Given the description of an element on the screen output the (x, y) to click on. 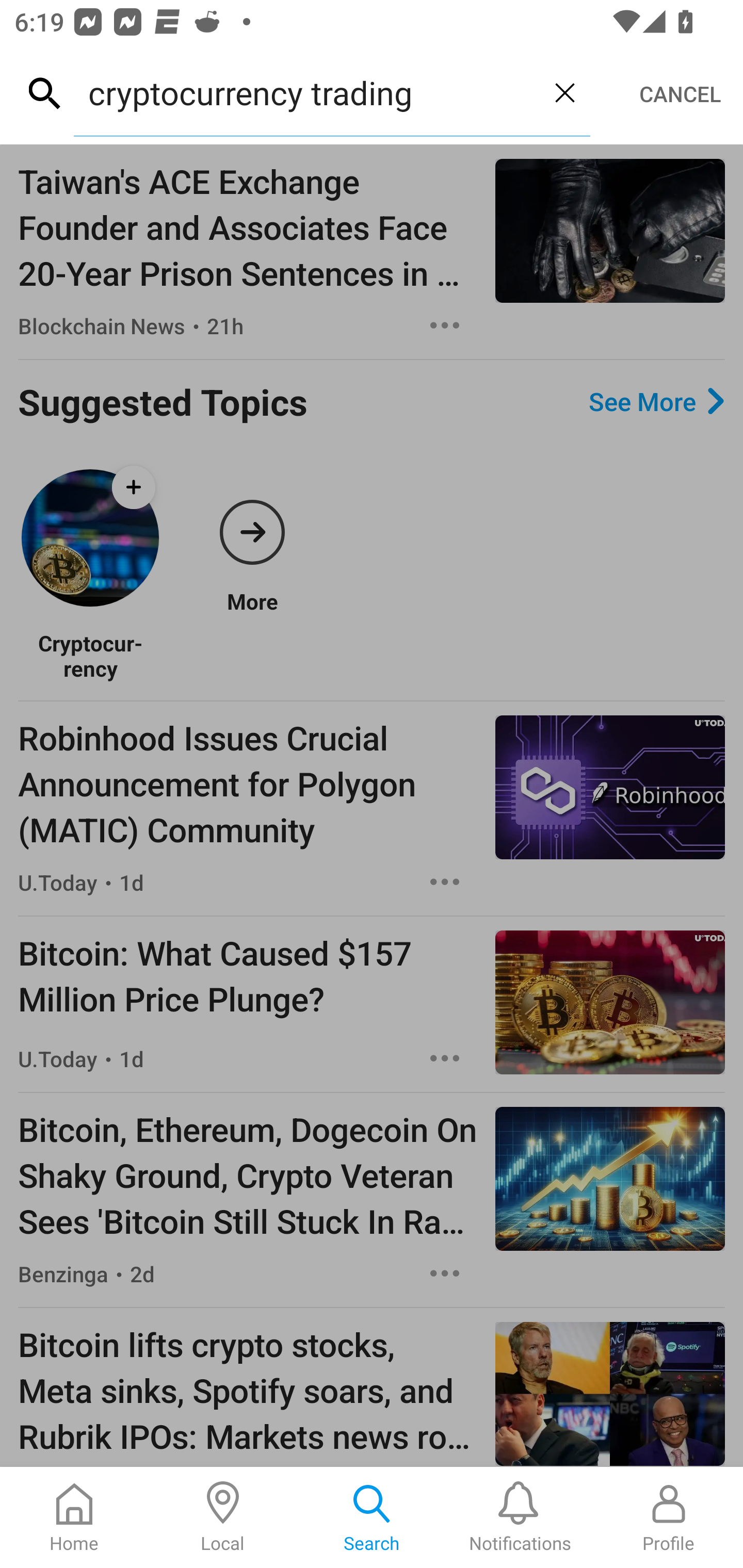
Clear query (564, 92)
CANCEL (680, 93)
cryptocurrency trading (306, 92)
Options (444, 325)
See More (656, 401)
More (251, 537)
Cryptocurrency (89, 655)
Options (444, 881)
Options (444, 1058)
Options (444, 1273)
Home (74, 1517)
Local (222, 1517)
Notifications (519, 1517)
Profile (668, 1517)
